Given the description of an element on the screen output the (x, y) to click on. 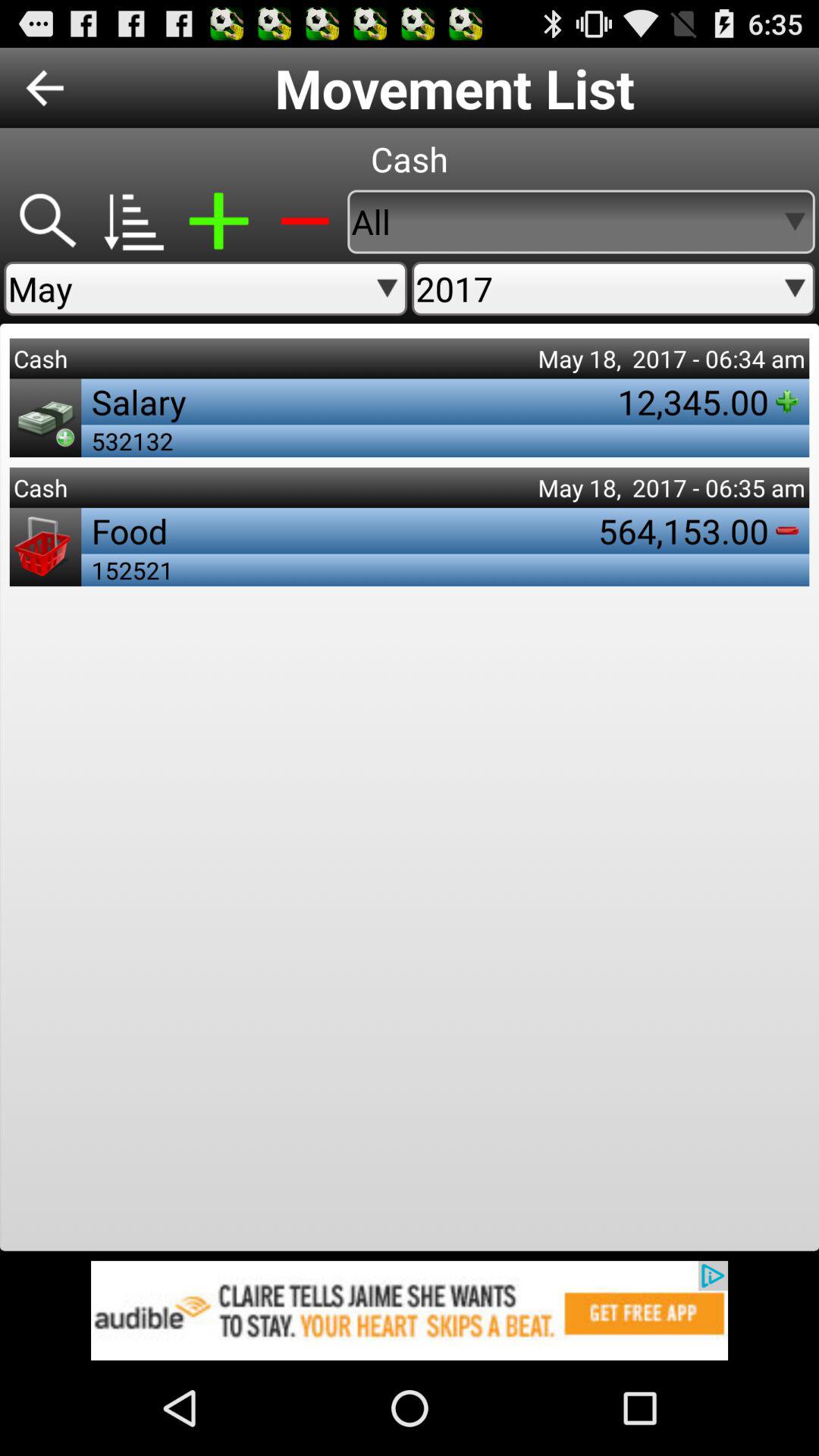
delete button (304, 221)
